Given the description of an element on the screen output the (x, y) to click on. 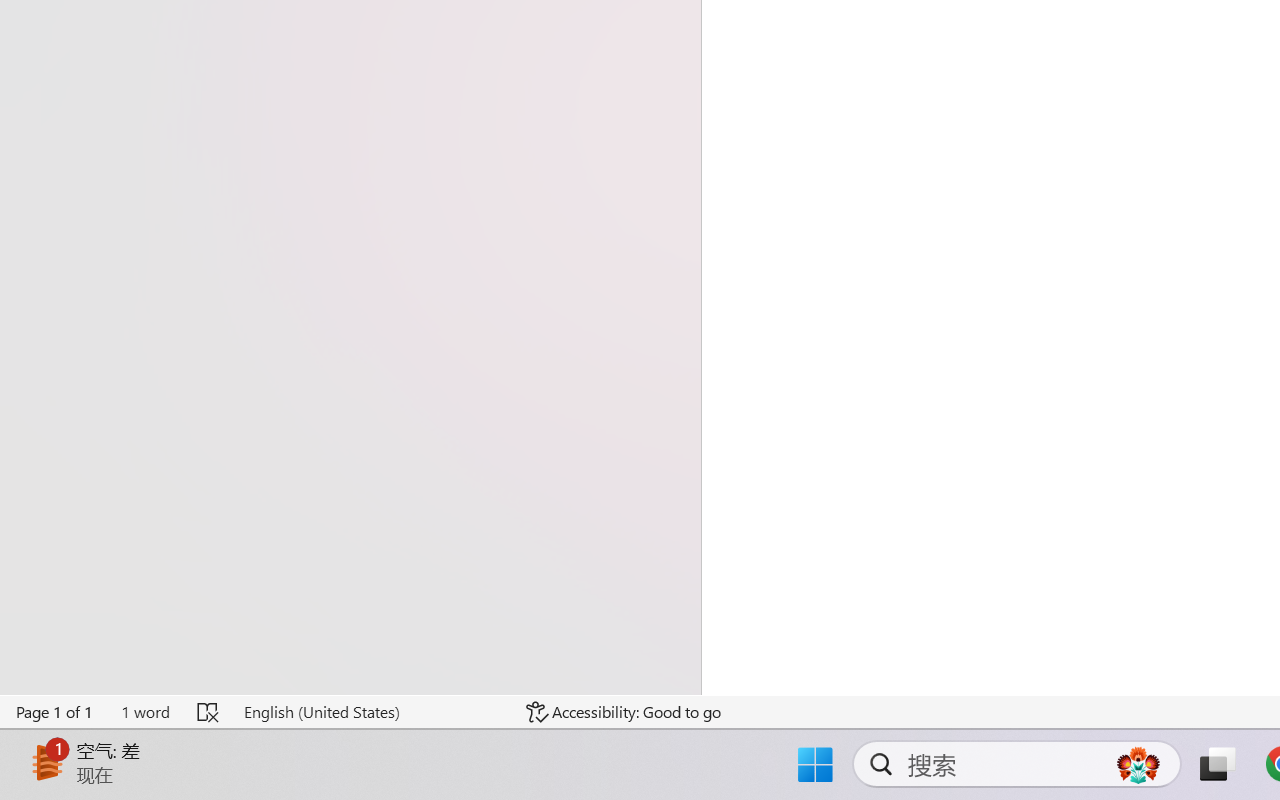
Spelling and Grammar Check Errors (208, 712)
